Given the description of an element on the screen output the (x, y) to click on. 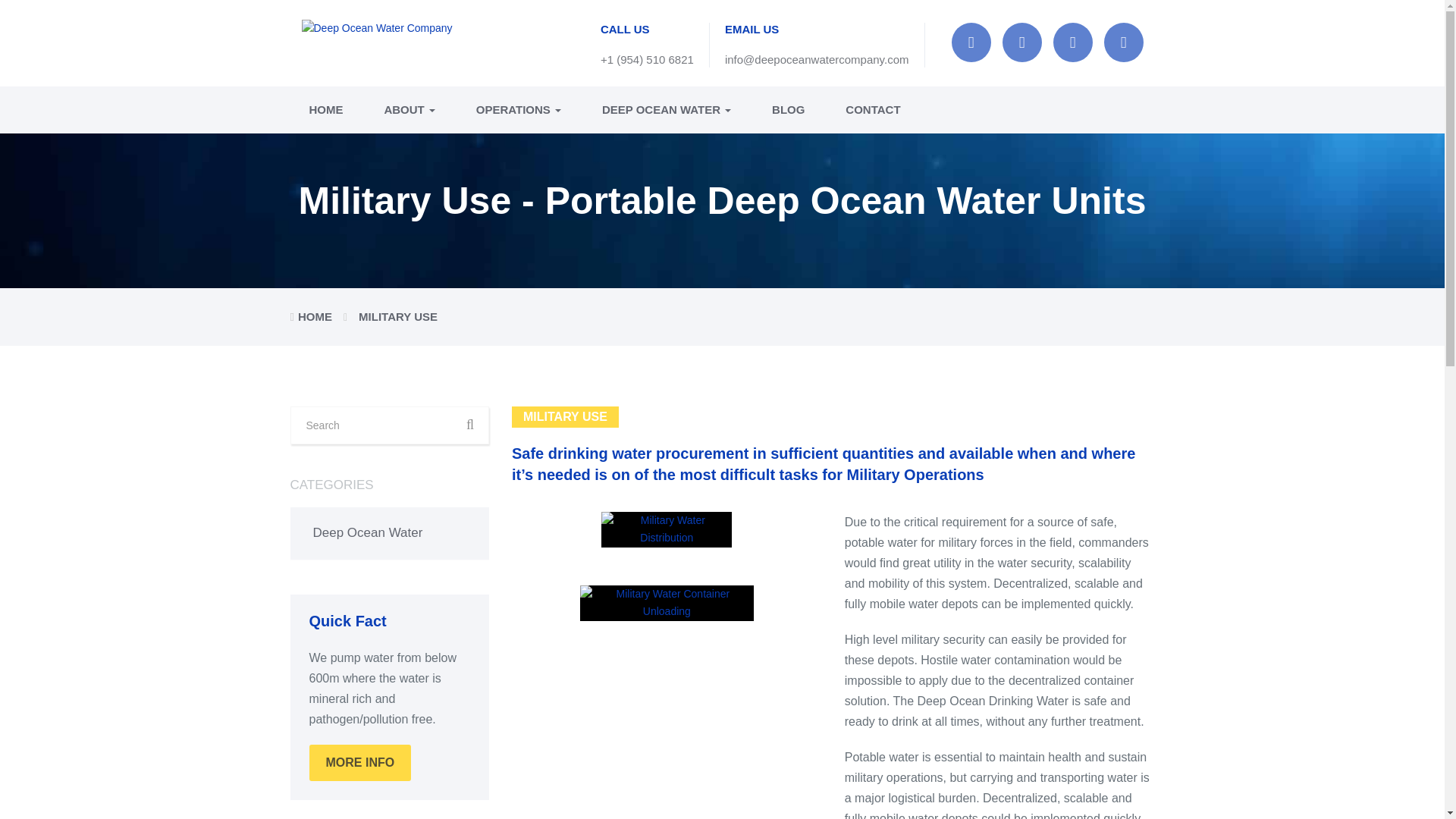
Home (325, 109)
HOME (325, 109)
Operations (518, 109)
Blog (788, 109)
MORE INFO (360, 762)
Deep Ocean Water (666, 109)
OPERATIONS (518, 109)
ABOUT (409, 109)
BLOG (788, 109)
HOME (314, 316)
Deep Ocean Water (367, 532)
About (409, 109)
CONTACT (863, 109)
Contact (863, 109)
DEEP OCEAN WATER (666, 109)
